Given the description of an element on the screen output the (x, y) to click on. 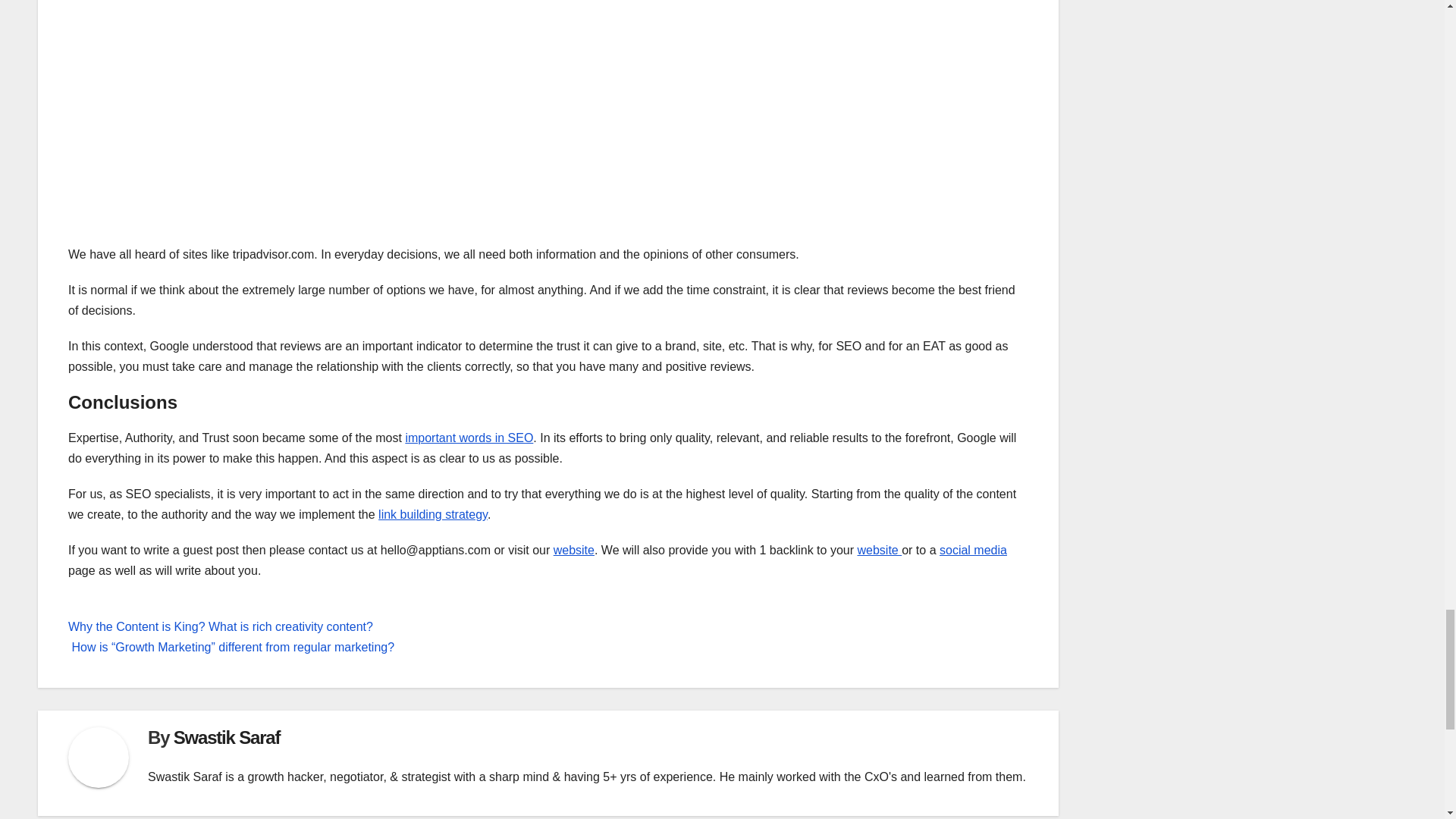
important words in SEO (468, 437)
link building strategy (432, 513)
website (573, 549)
